Given the description of an element on the screen output the (x, y) to click on. 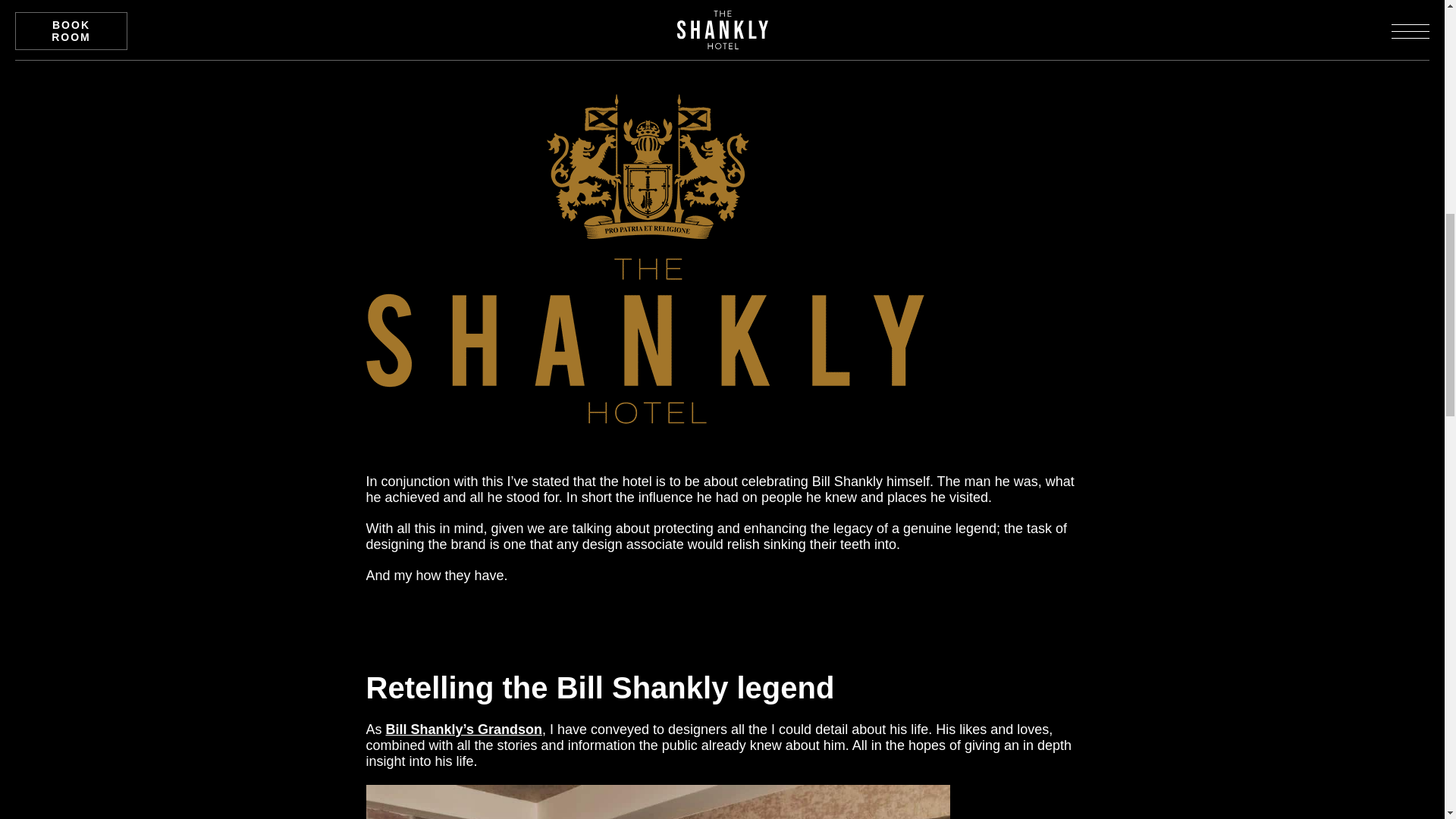
blogs (515, 7)
Liverpool hotel (696, 38)
